Given the description of an element on the screen output the (x, y) to click on. 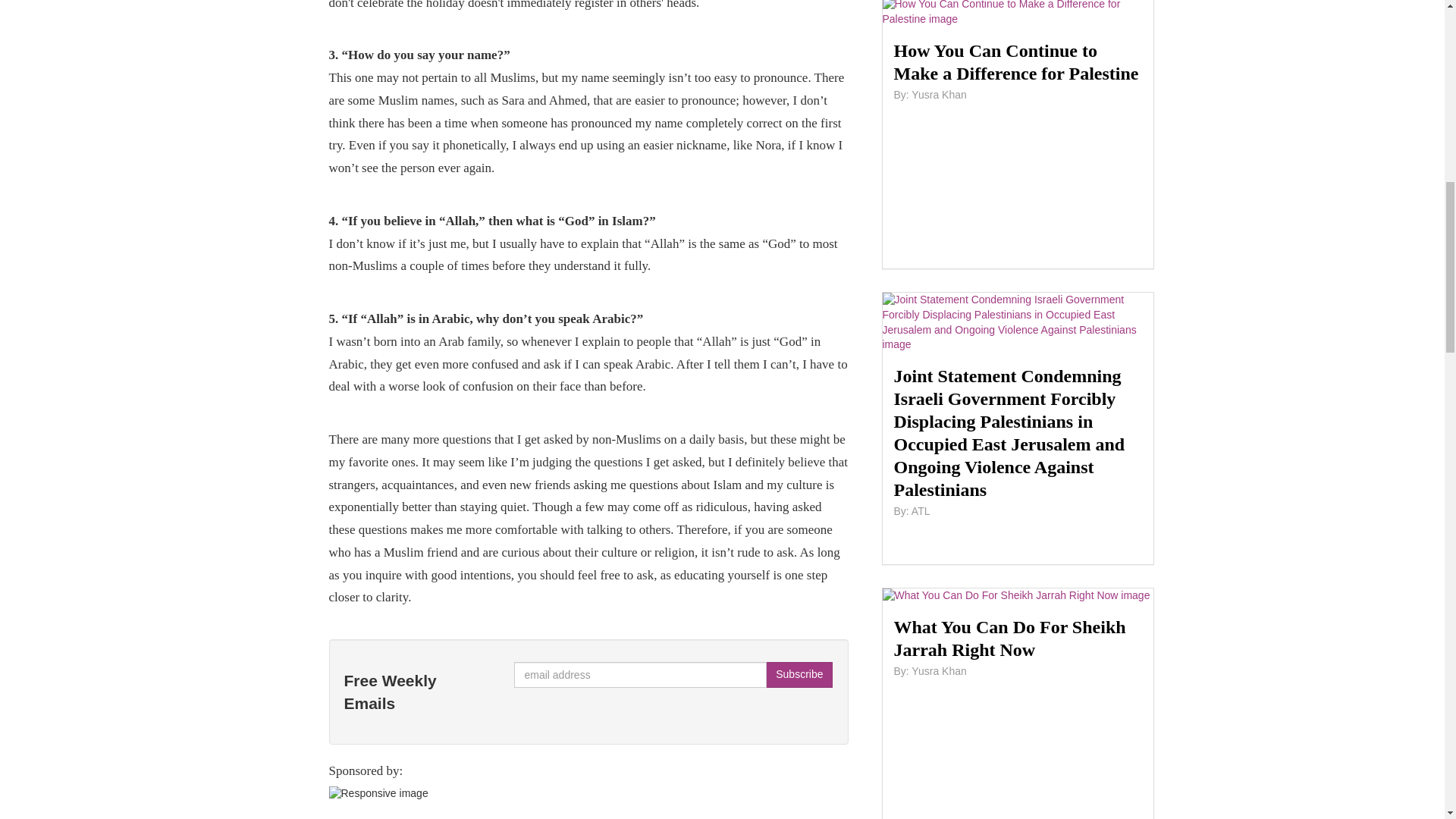
Subscribe (798, 674)
How You Can Continue to Make a Difference for Palestine (1017, 62)
Subscribe (798, 674)
